Given the description of an element on the screen output the (x, y) to click on. 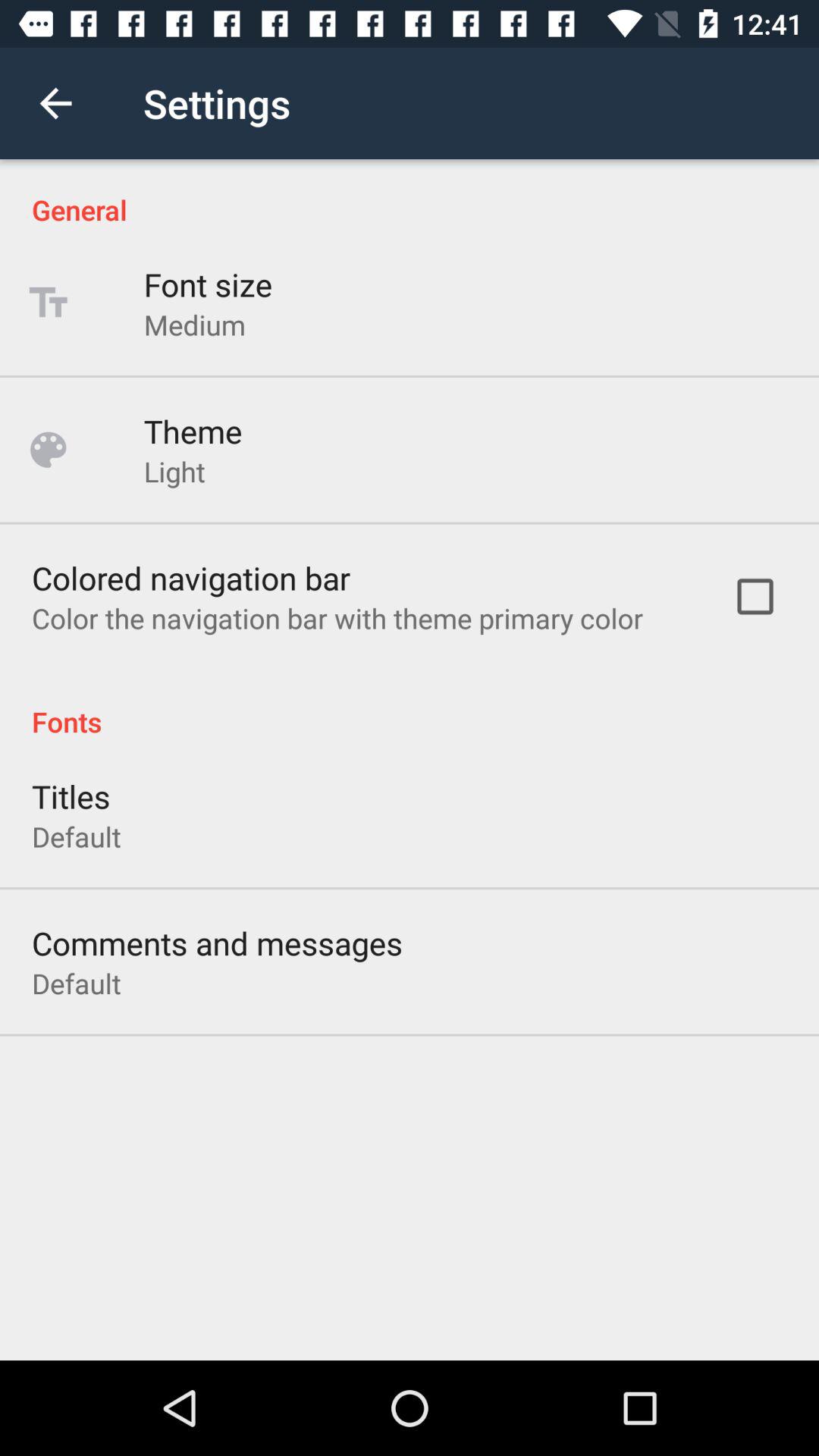
press the icon next to the settings (55, 103)
